Given the description of an element on the screen output the (x, y) to click on. 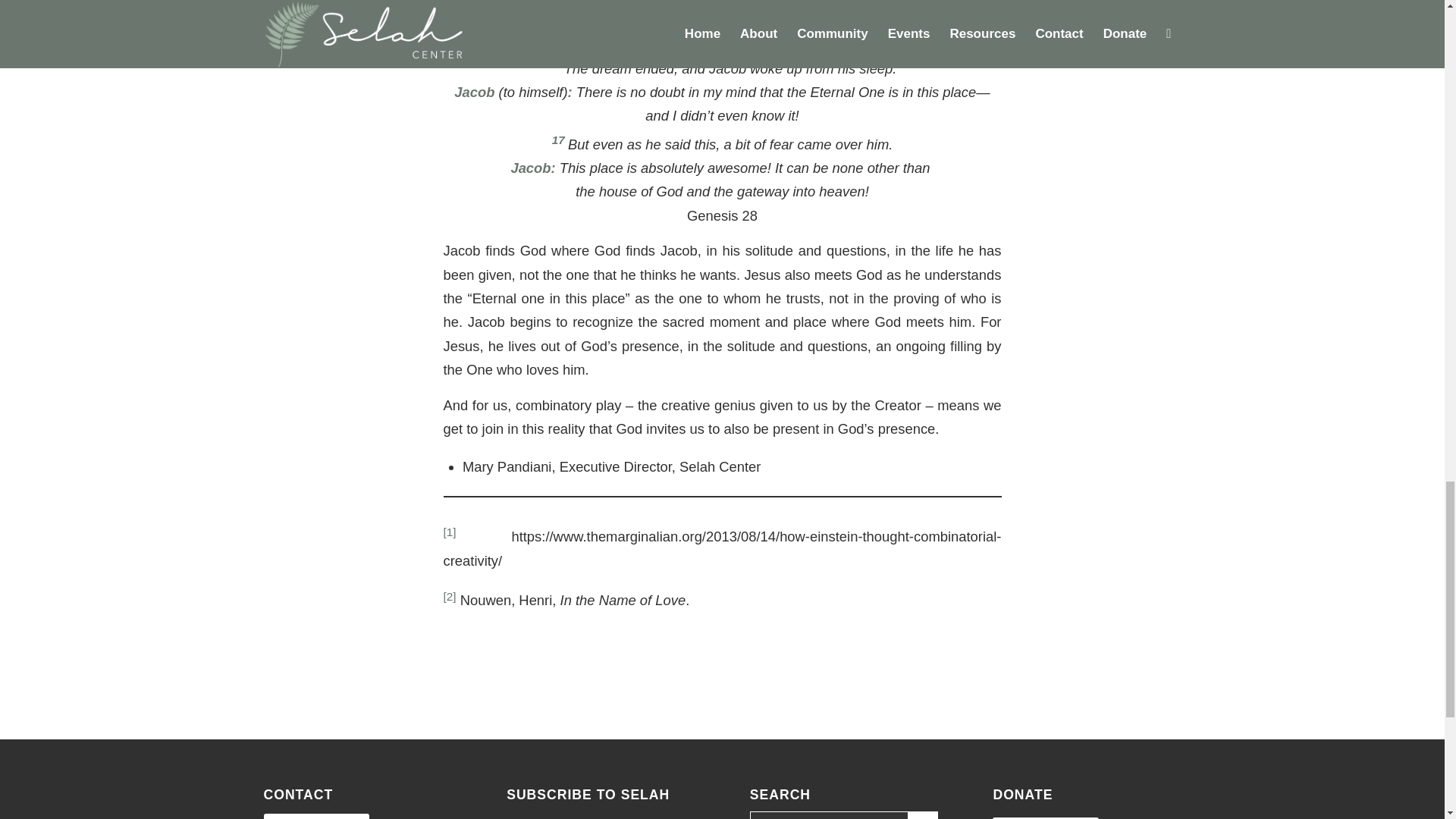
Donate Today (1045, 818)
Contact Us (316, 816)
Donate Today (1045, 818)
